Given the description of an element on the screen output the (x, y) to click on. 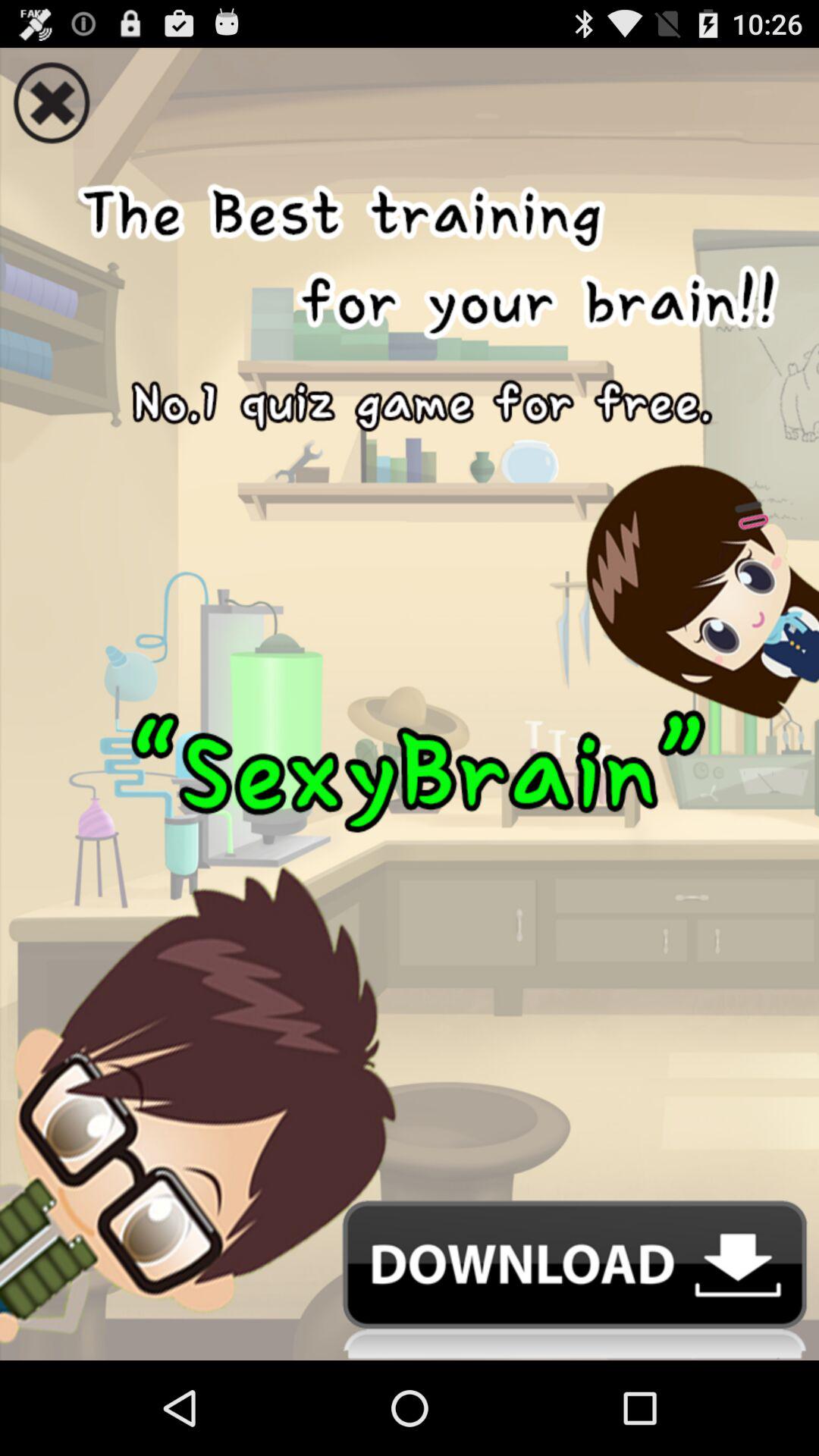
click the image (409, 674)
